Given the description of an element on the screen output the (x, y) to click on. 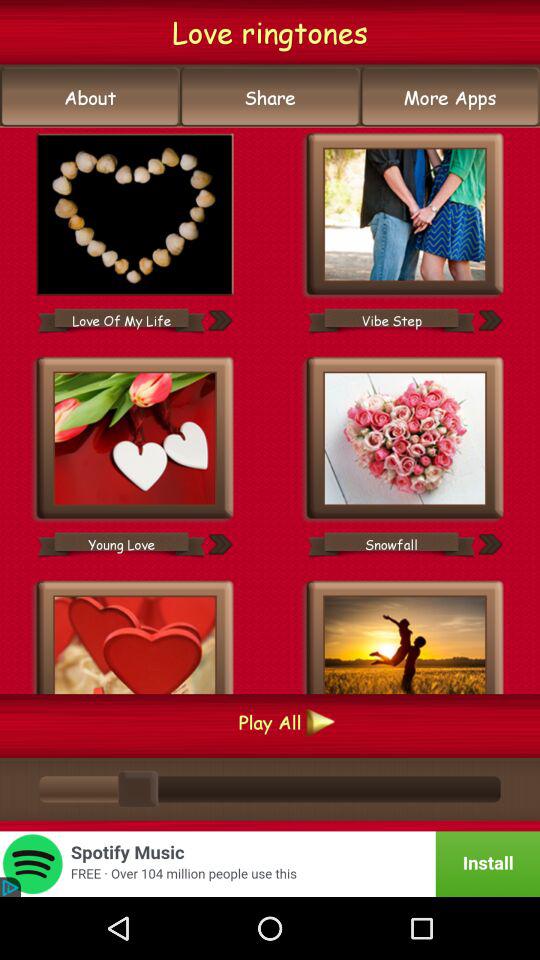
launch the play all item (269, 721)
